Given the description of an element on the screen output the (x, y) to click on. 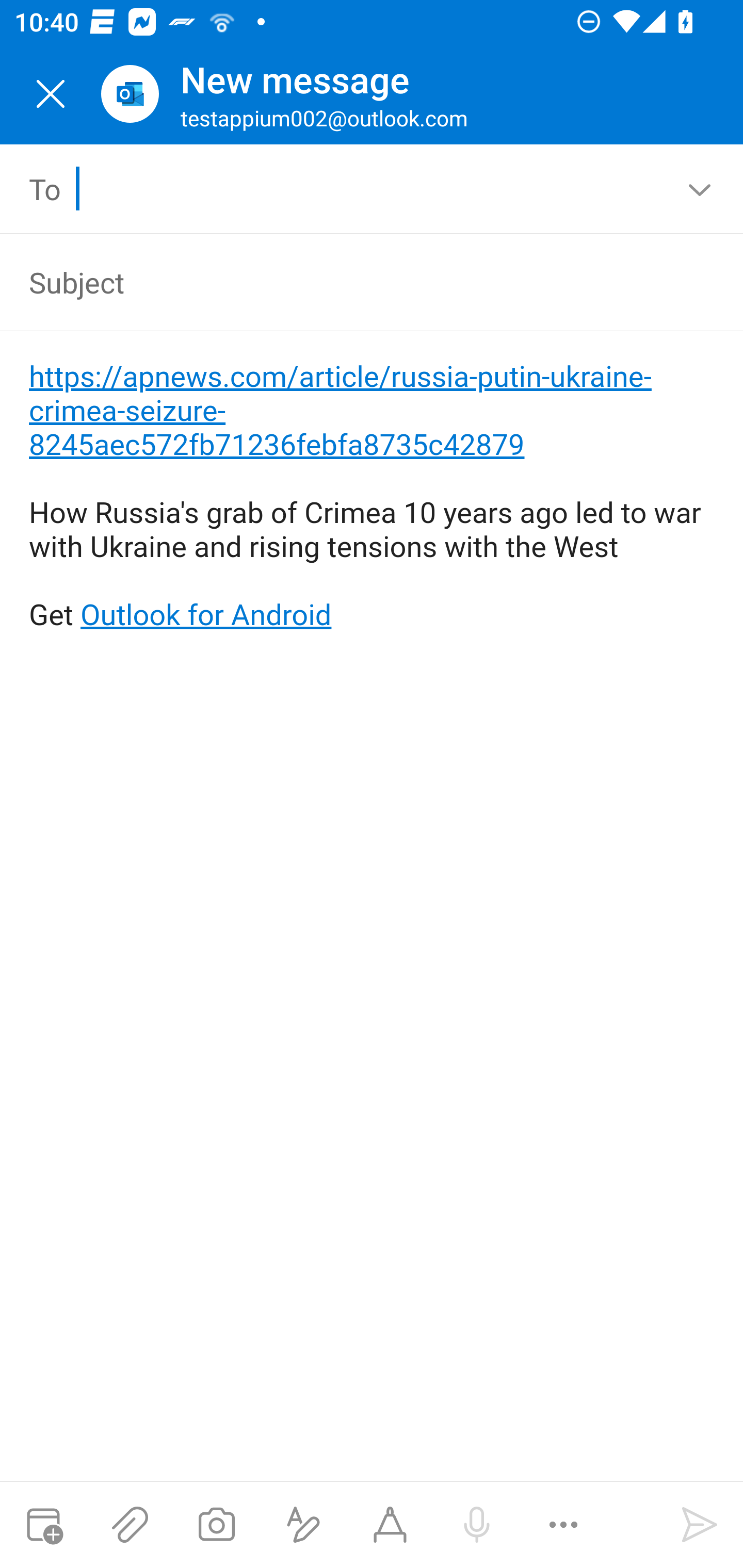
Close (50, 93)
Subject (342, 281)
Attach meeting (43, 1524)
Attach files (129, 1524)
Take a photo (216, 1524)
Show formatting options (303, 1524)
Start Ink compose (389, 1524)
More options (563, 1524)
Send (699, 1524)
